Given the description of an element on the screen output the (x, y) to click on. 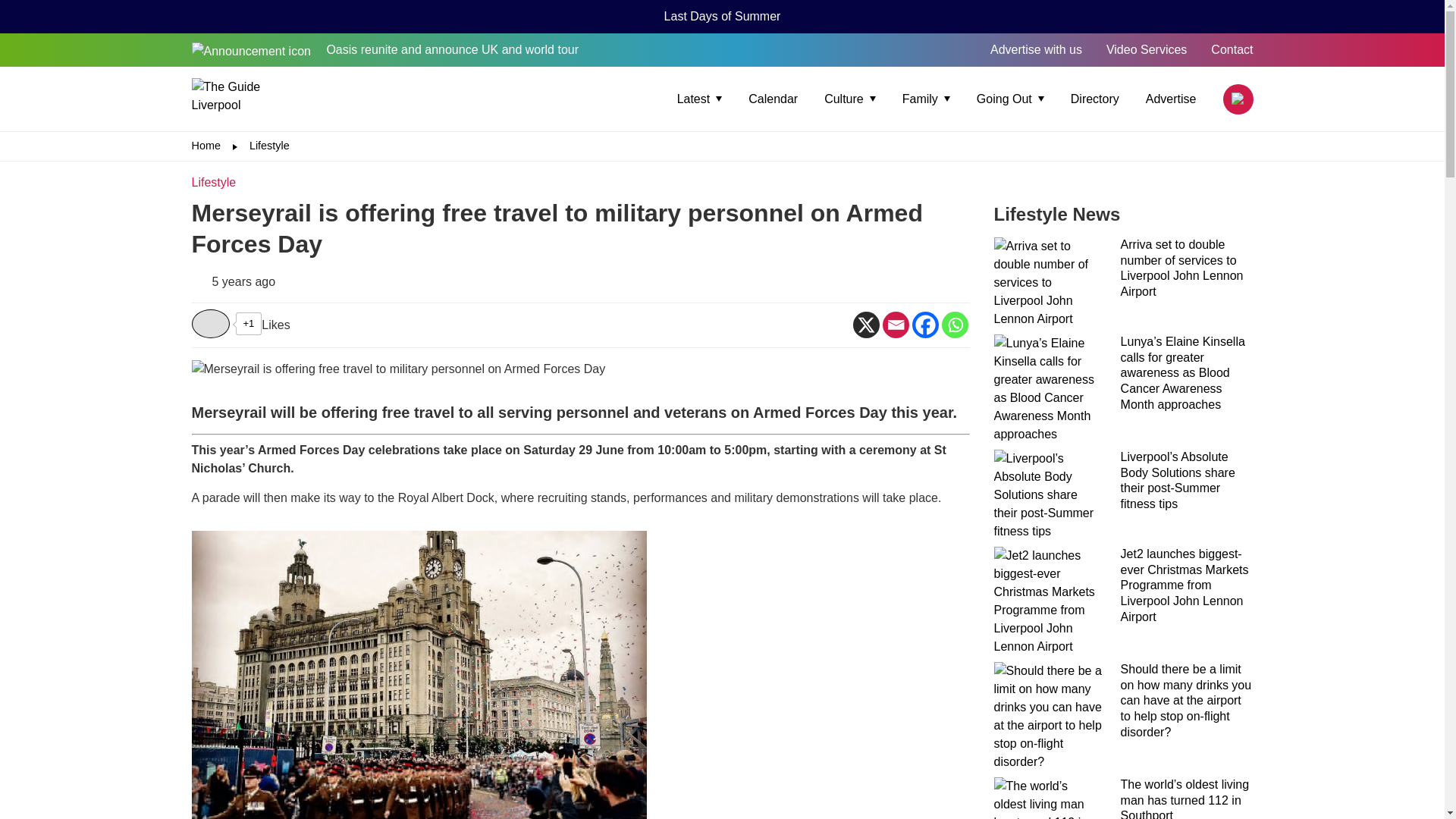
Video Services (1146, 49)
Oasis reunite and announce UK and world tour (384, 49)
Email (895, 325)
Whatsapp (955, 325)
Contact (1231, 49)
Advertise with us (1035, 49)
Facebook (924, 325)
X (865, 325)
